Given the description of an element on the screen output the (x, y) to click on. 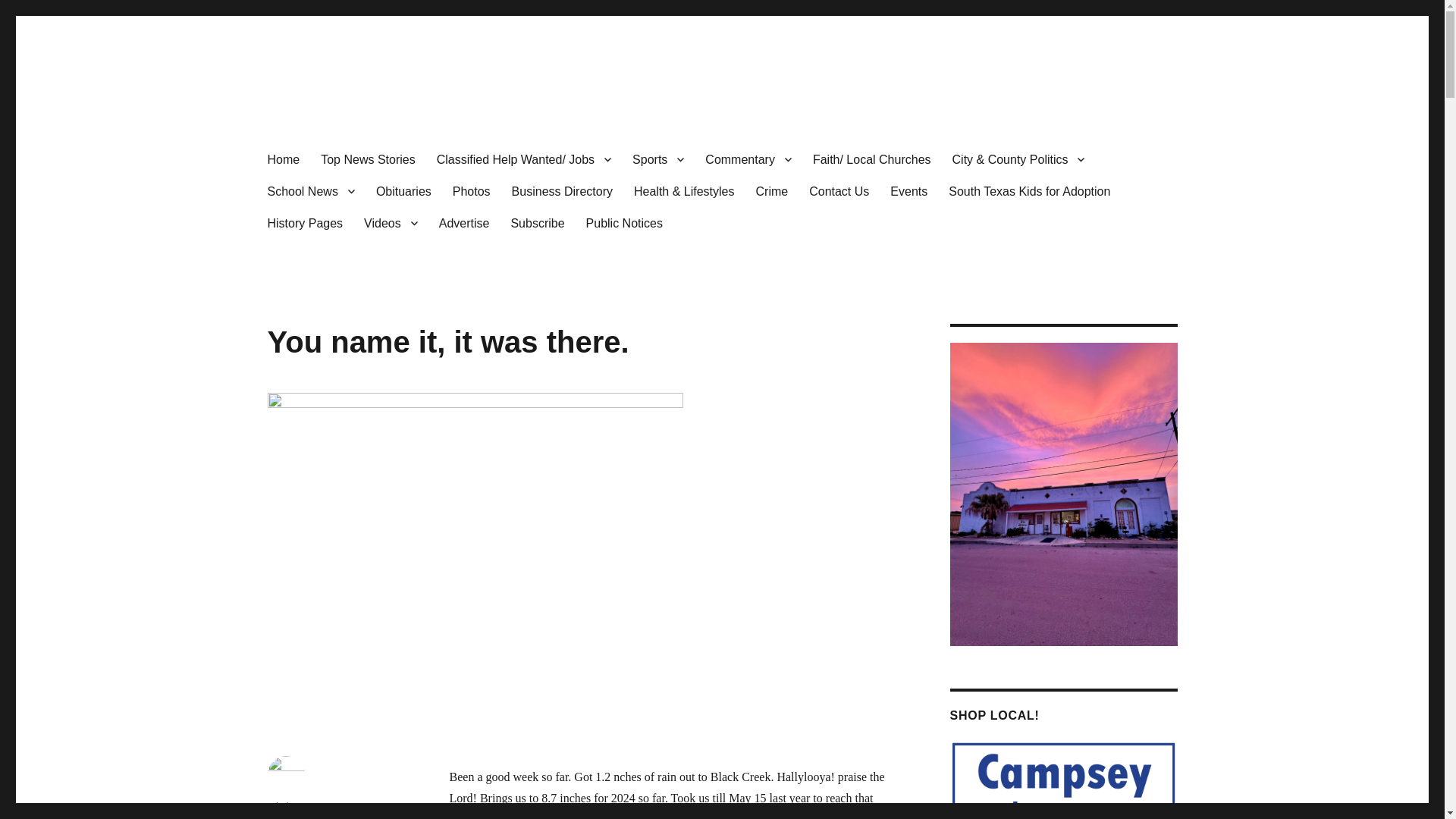
History Pages (304, 223)
Photos (471, 191)
South Texas Kids for Adoption (1029, 191)
Top News Stories (368, 159)
Business Directory (561, 191)
Commentary (748, 159)
Obituaries (403, 191)
Home (283, 159)
Contact Us (838, 191)
Videos (390, 223)
